Given the description of an element on the screen output the (x, y) to click on. 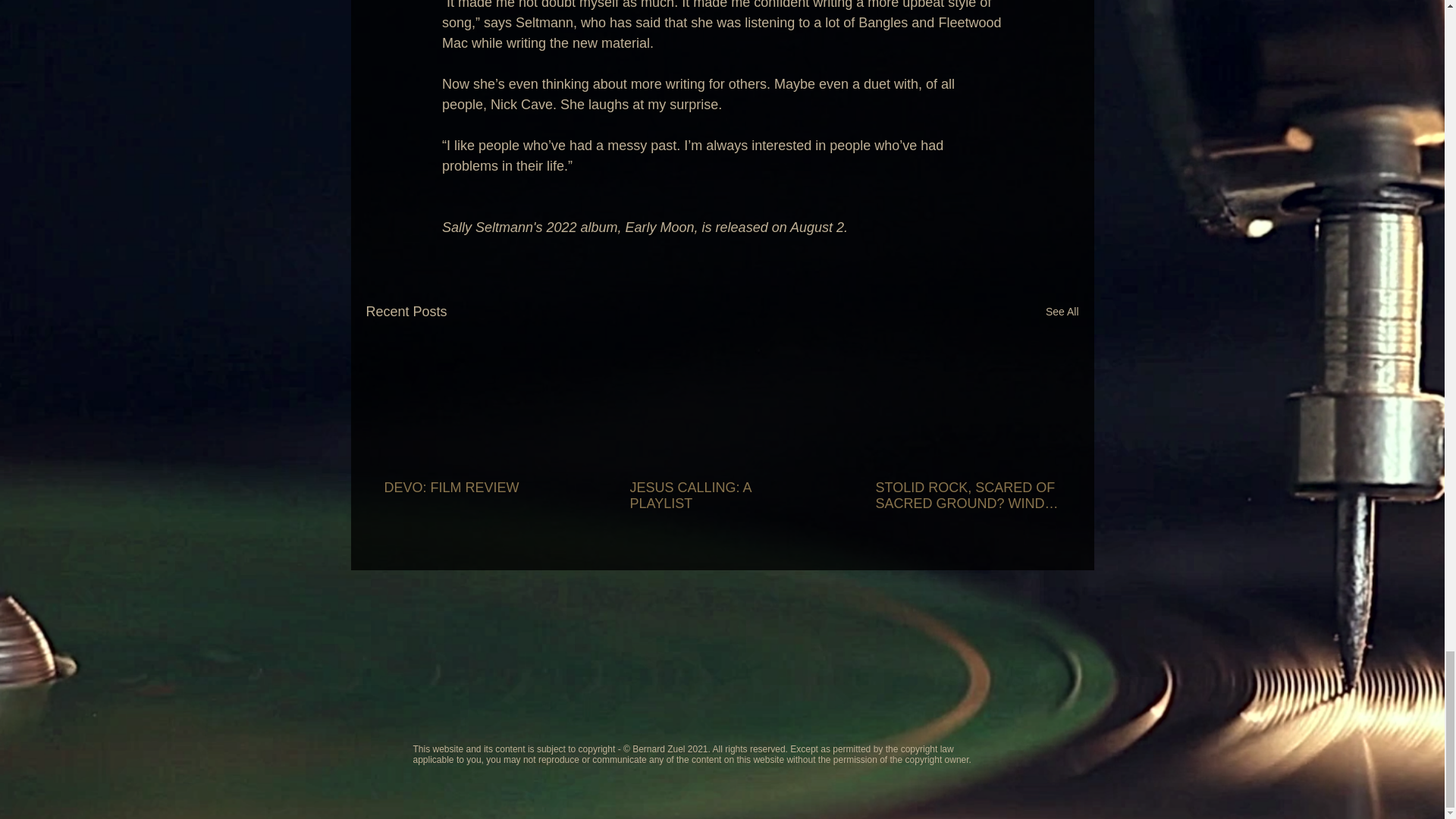
DEVO: FILM REVIEW (475, 487)
See All (1061, 311)
JESUS CALLING: A PLAYLIST (720, 495)
